Given the description of an element on the screen output the (x, y) to click on. 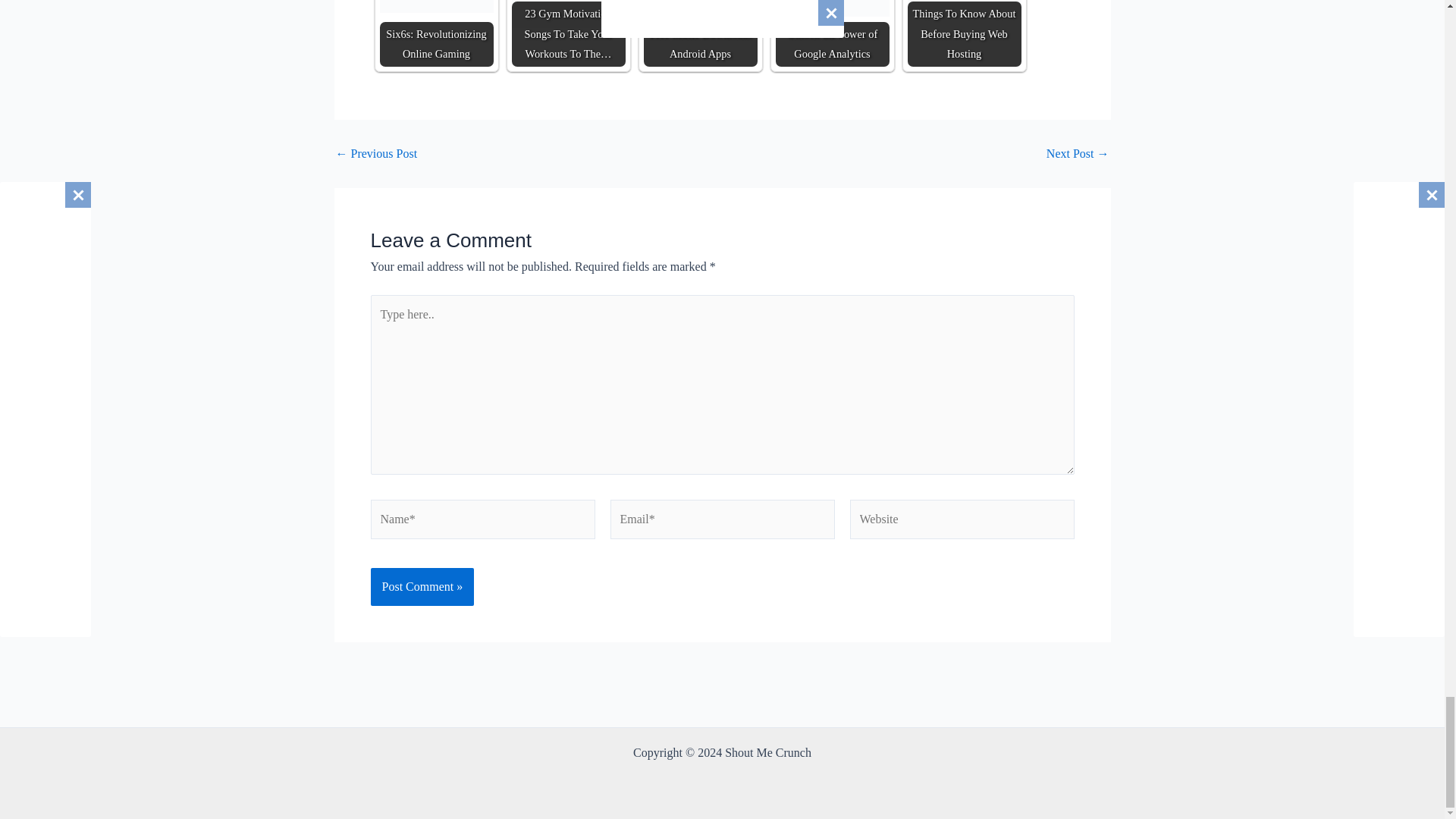
Six6s: Revolutionizing Online Gaming (435, 6)
Things To Know About Before Buying Web Hosting (963, 8)
Why in car Dash Camera's are so Popular (375, 153)
Unlock the Power of Google Analytics (831, 8)
Free Music Downloads Android Apps (700, 6)
